Given the description of an element on the screen output the (x, y) to click on. 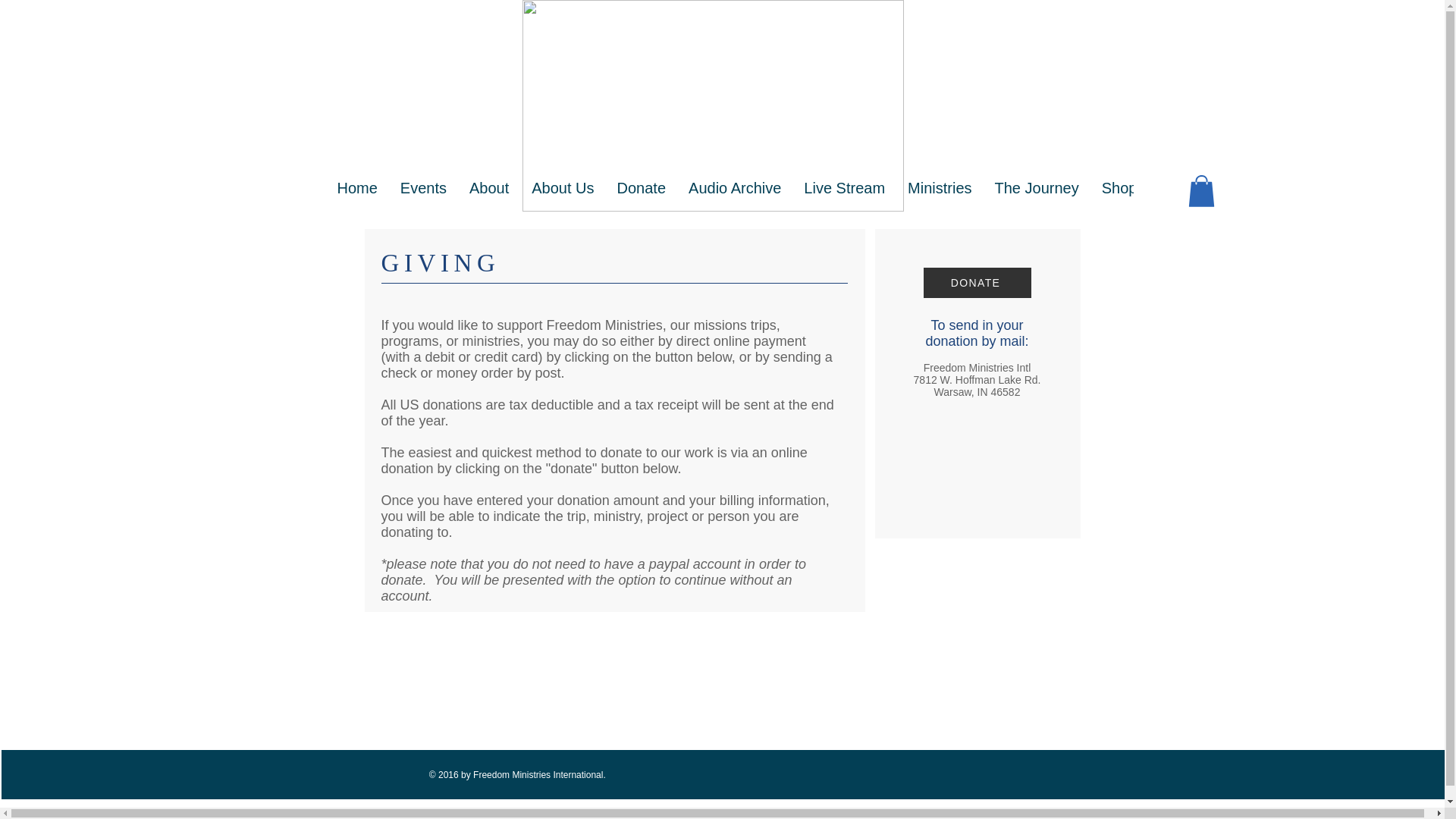
Ministries (939, 195)
The Journey (1037, 195)
Donate (641, 195)
DONATE (976, 282)
About (488, 195)
Home (357, 195)
Events (423, 195)
church logo.jpg (711, 105)
Live Stream (844, 195)
Shop (1119, 195)
